Given the description of an element on the screen output the (x, y) to click on. 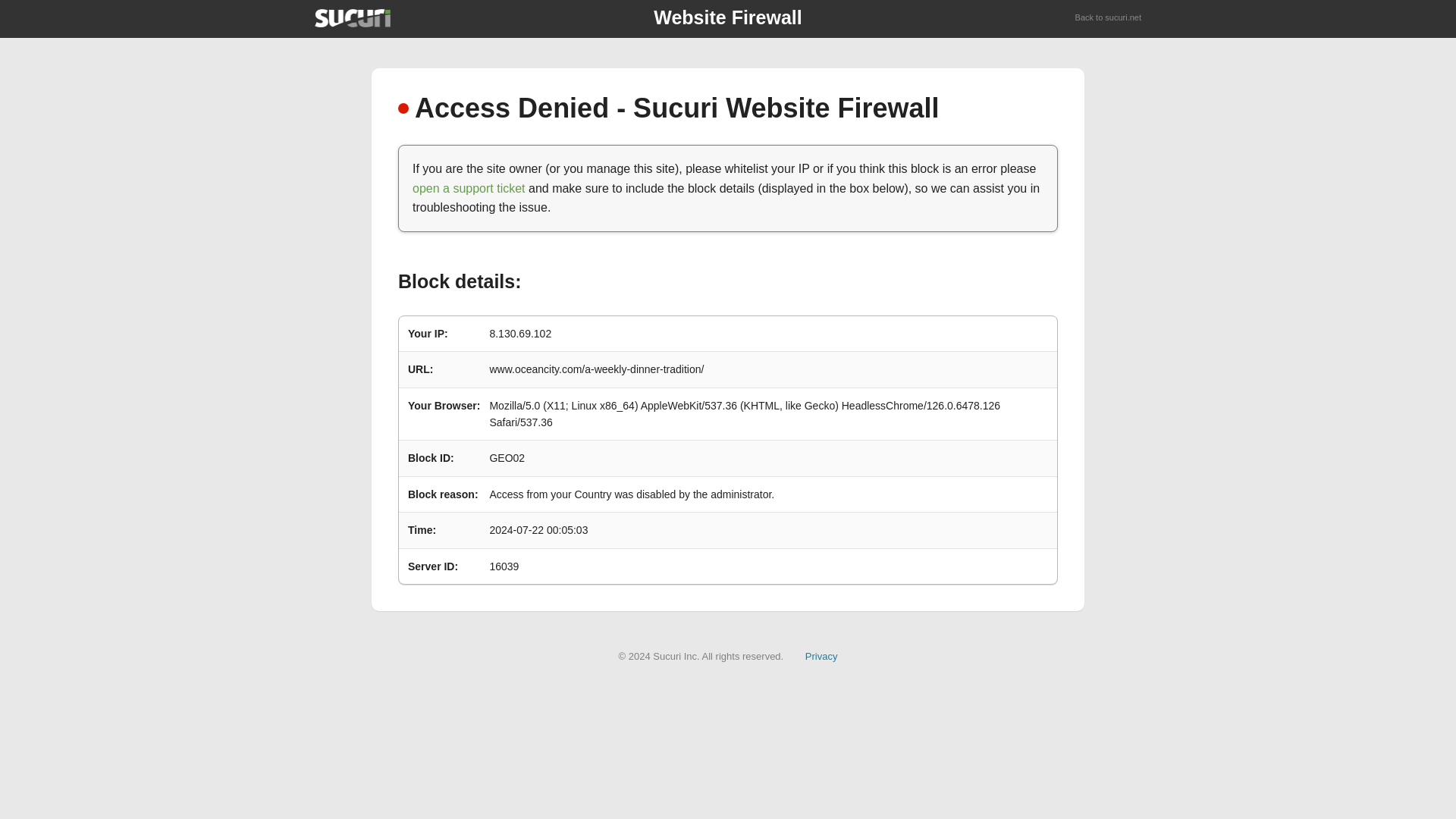
Privacy (821, 655)
open a support ticket (468, 187)
Back to sucuri.net (1108, 18)
